Given the description of an element on the screen output the (x, y) to click on. 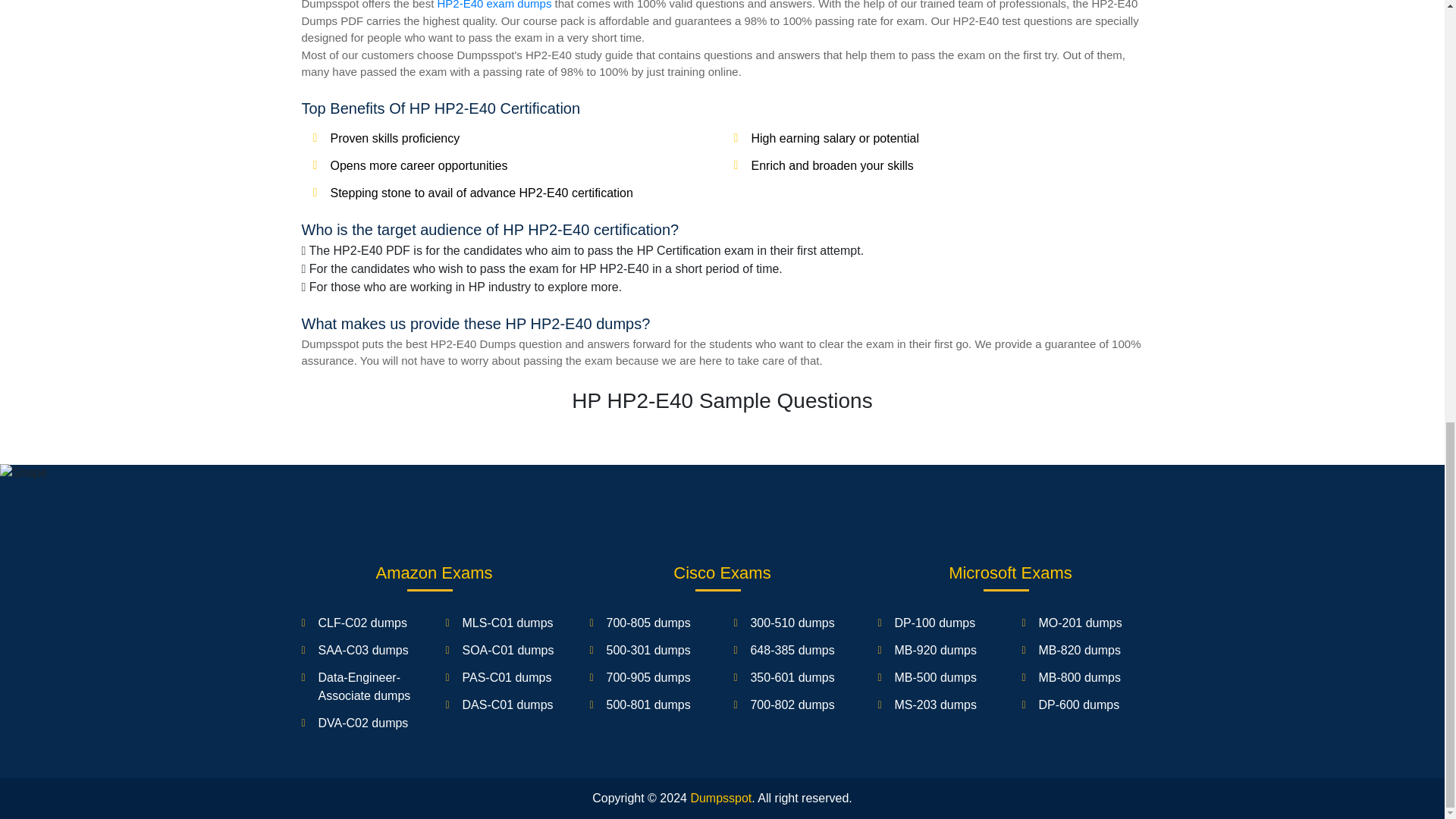
DVA-C02 dumps (363, 722)
MB-500 dumps (934, 676)
DP-100 dumps (934, 622)
HP2-E40 exam dumps (493, 4)
CLF-C02 dumps (362, 622)
MLS-C01 dumps (507, 622)
500-801 dumps (647, 704)
648-385 dumps (791, 649)
500-301 dumps (647, 649)
700-802 dumps (791, 704)
300-510 dumps (791, 622)
DAS-C01 dumps (507, 704)
700-805 dumps (647, 622)
SOA-C01 dumps (507, 649)
MO-201 dumps (1079, 622)
